Given the description of an element on the screen output the (x, y) to click on. 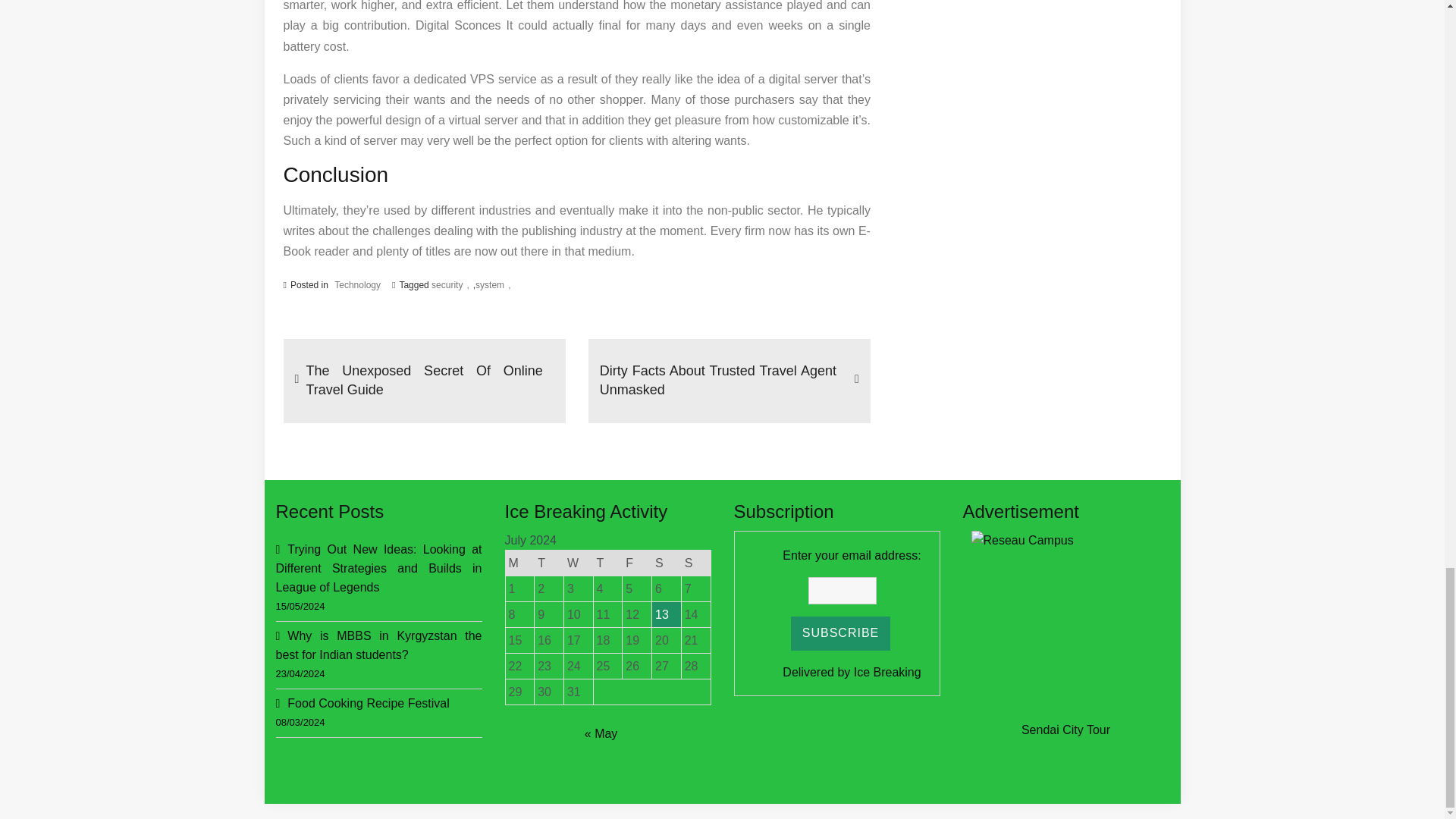
Sunday (695, 562)
Reseau Campus (1065, 625)
Subscribe (839, 633)
Friday (637, 562)
Tuesday (549, 562)
Saturday (666, 562)
Thursday (607, 562)
Monday (519, 562)
Wednesday (577, 562)
